Given the description of an element on the screen output the (x, y) to click on. 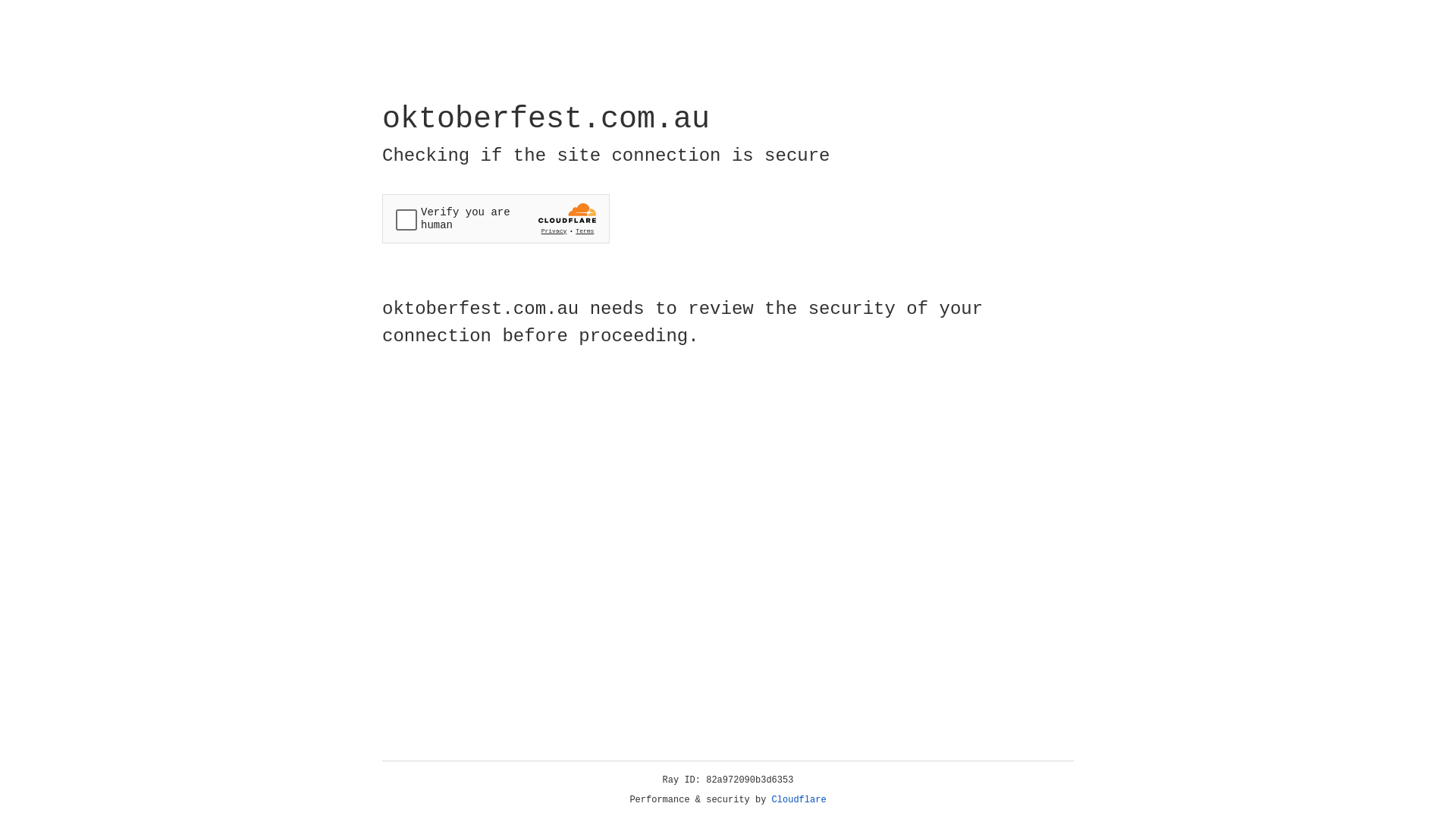
Cloudflare Element type: text (798, 799)
Widget containing a Cloudflare security challenge Element type: hover (495, 218)
